Given the description of an element on the screen output the (x, y) to click on. 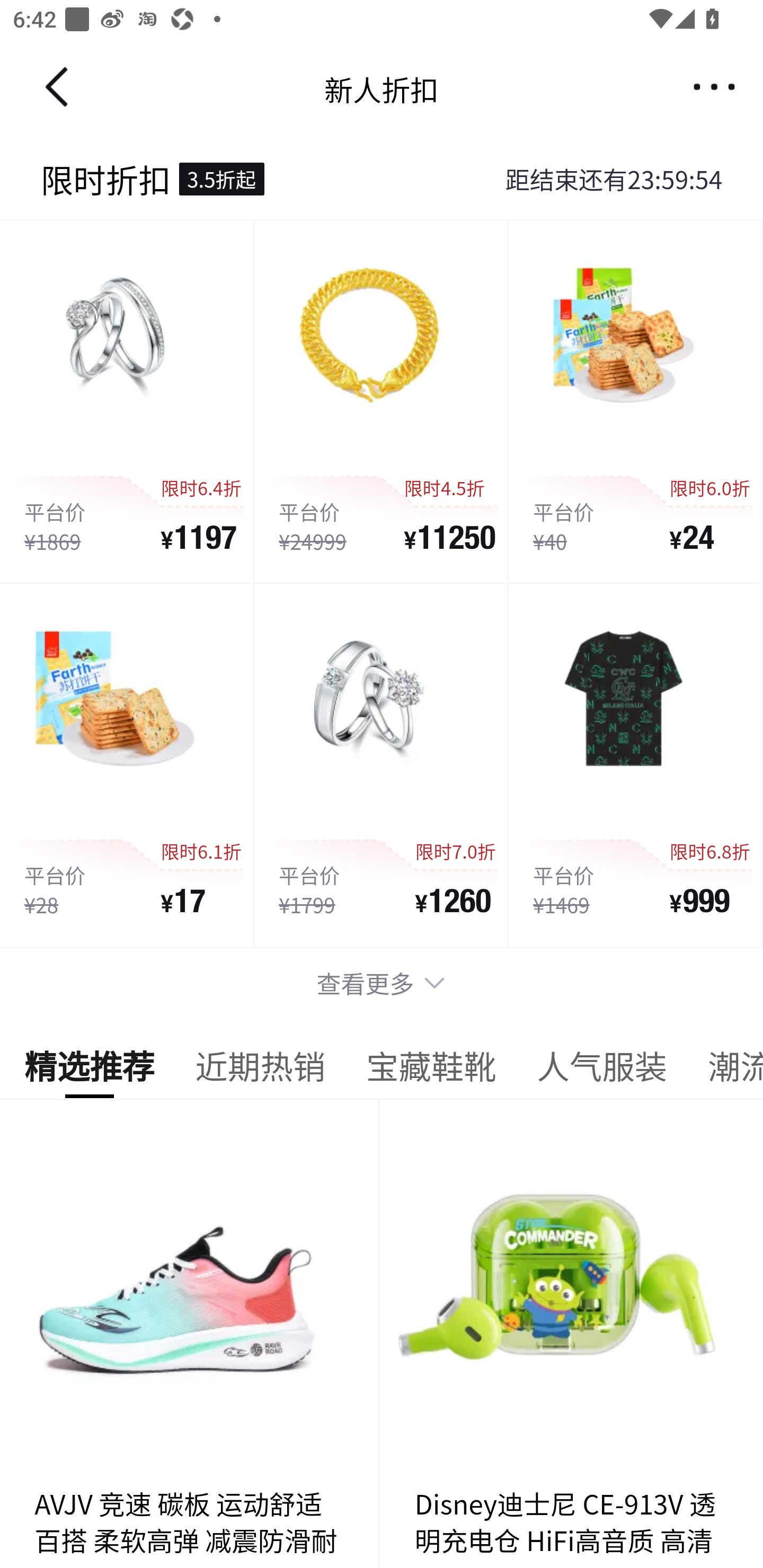
精选推荐   (89, 1070)
近期热销 (259, 1070)
宝藏鞋靴 (431, 1070)
人气服装 (601, 1070)
